Given the description of an element on the screen output the (x, y) to click on. 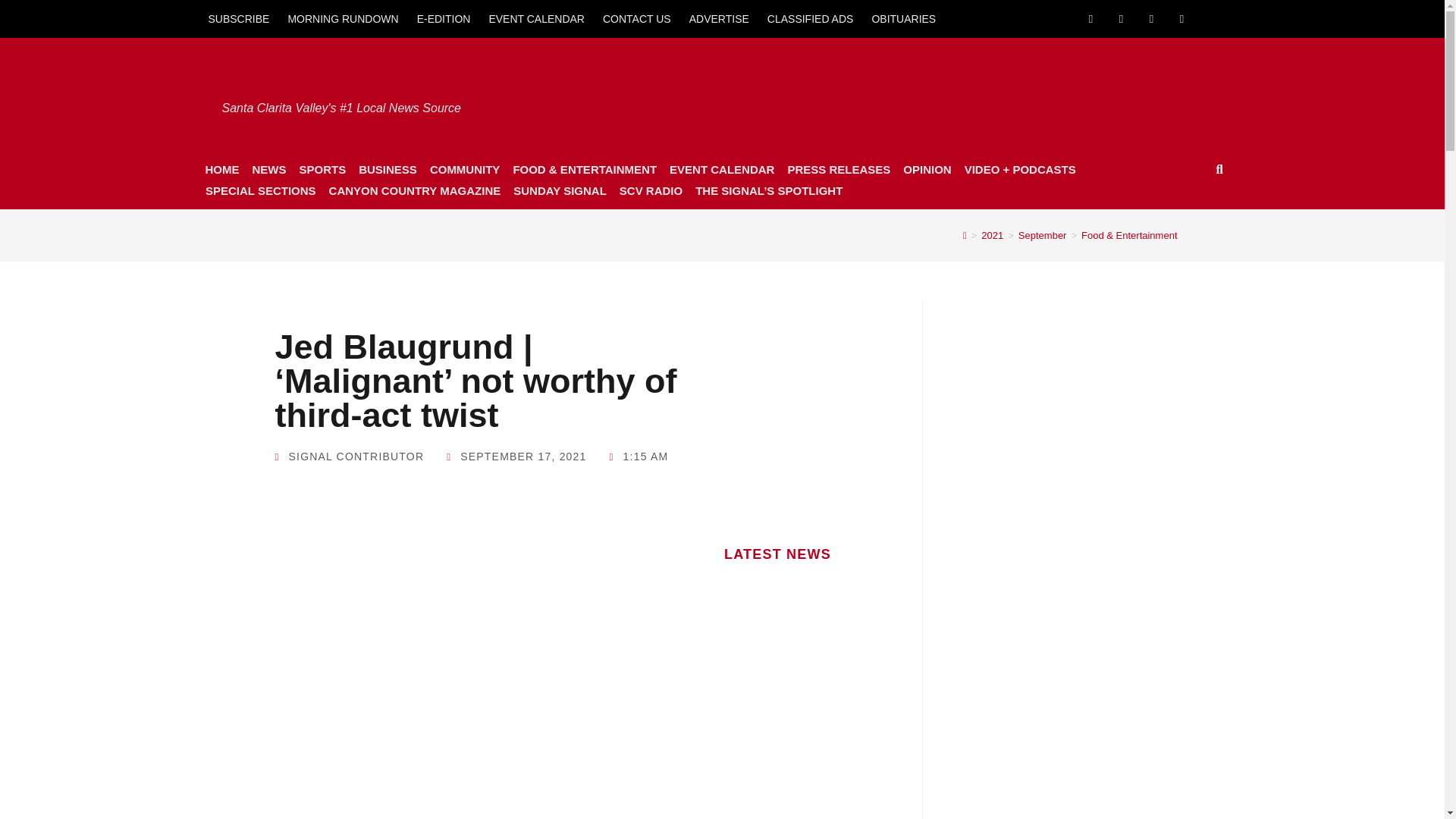
MORNING RUNDOWN (342, 18)
OBITUARIES (902, 18)
ADVERTISE (718, 18)
E-EDITION (443, 18)
SUBSCRIBE (238, 18)
CLASSIFIED ADS (810, 18)
SPORTS (322, 169)
EVENT CALENDAR (536, 18)
CONTACT US (636, 18)
NEWS (269, 169)
HOME (221, 169)
